Given the description of an element on the screen output the (x, y) to click on. 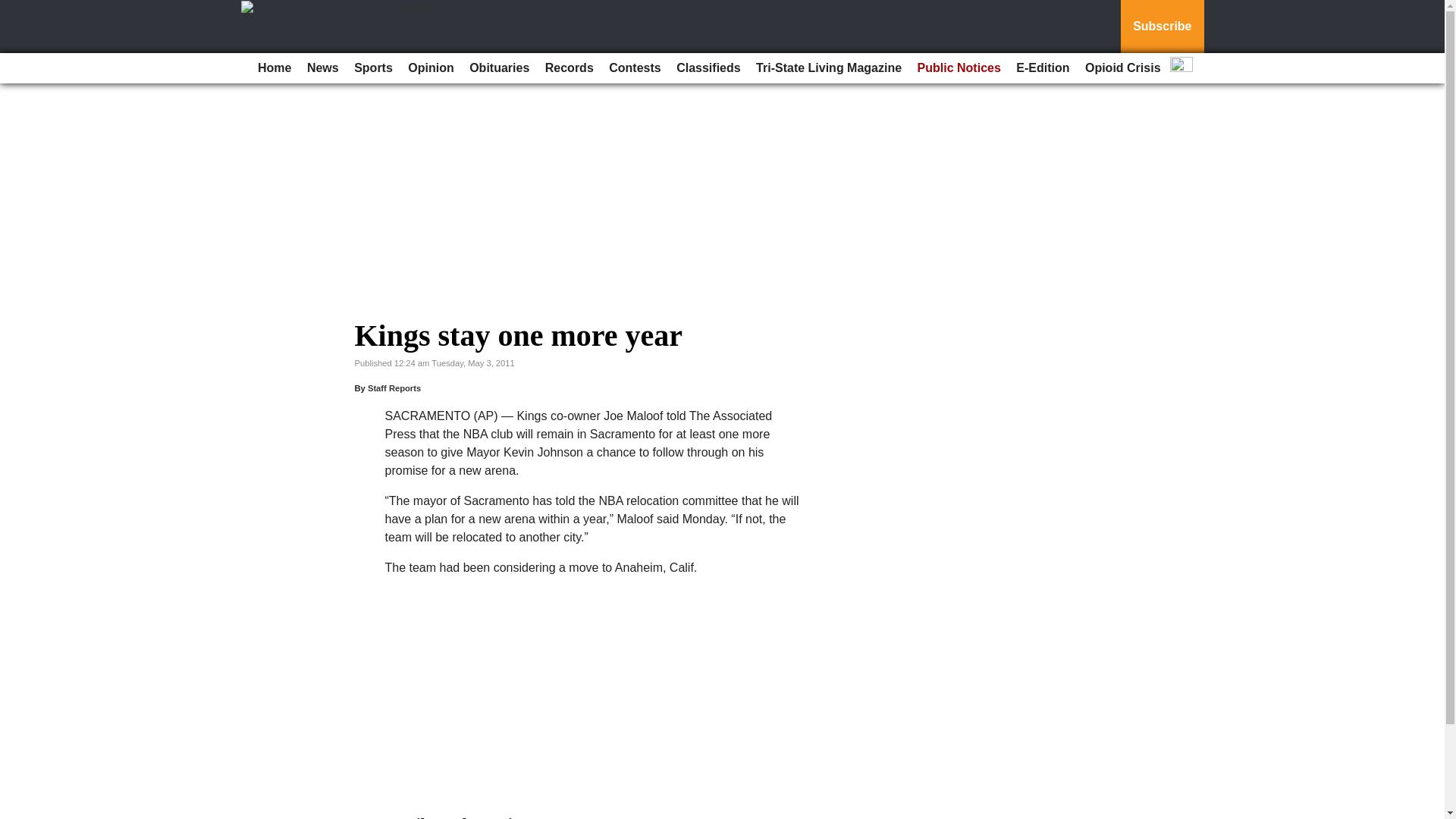
Opioid Crisis (1122, 68)
Classifieds (707, 68)
Sports (372, 68)
E-Edition (1042, 68)
Contests (634, 68)
Obituaries (499, 68)
Go (13, 9)
Tri-State Living Magazine (828, 68)
News (323, 68)
Opinion (430, 68)
